Given the description of an element on the screen output the (x, y) to click on. 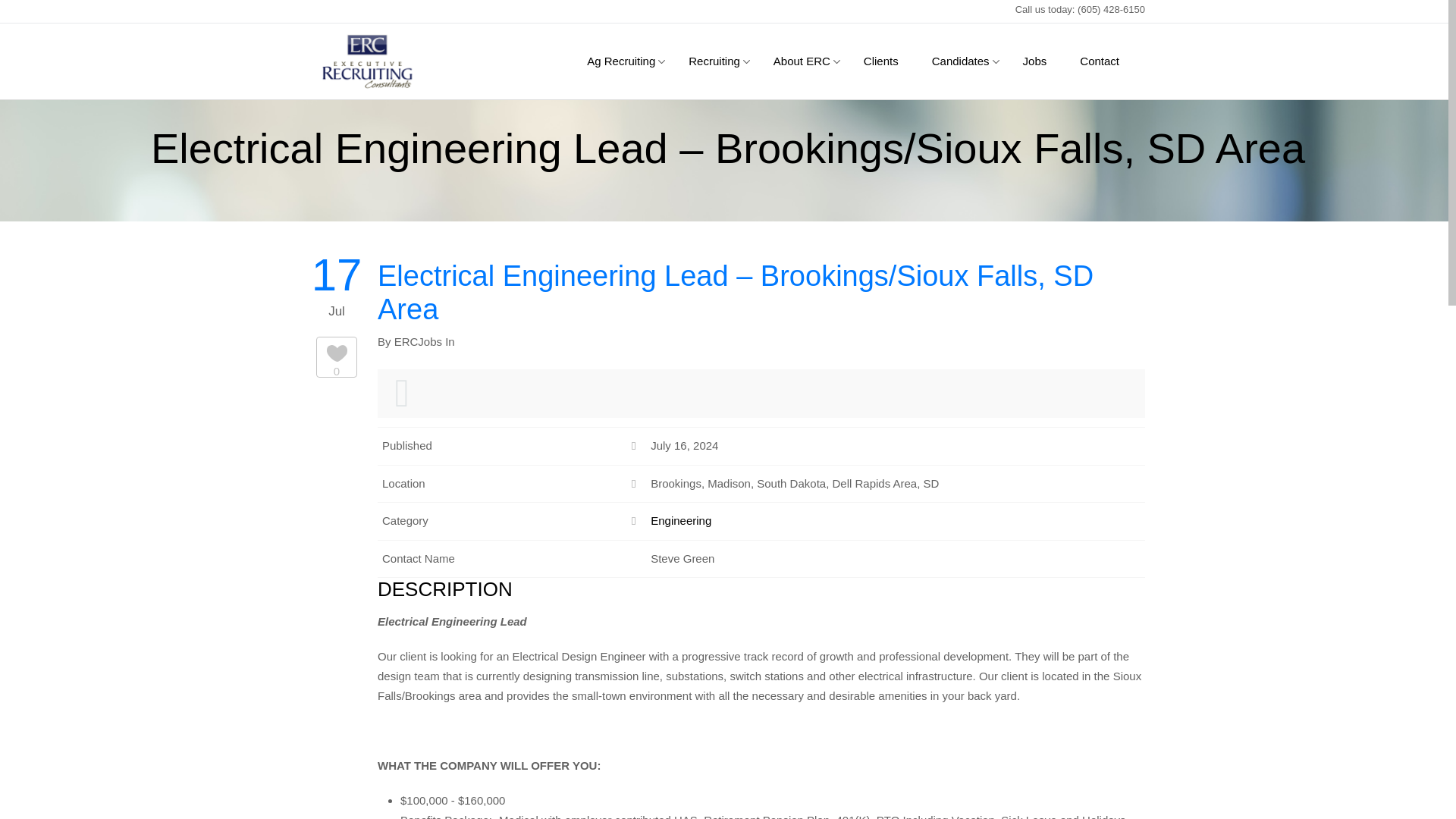
Candidates (960, 61)
Ag Recruiting (620, 61)
Like this (336, 362)
Engineering (680, 520)
Clients (881, 61)
0 (336, 362)
Contact (1098, 61)
About ERC (802, 61)
Recruiting (714, 61)
